Given the description of an element on the screen output the (x, y) to click on. 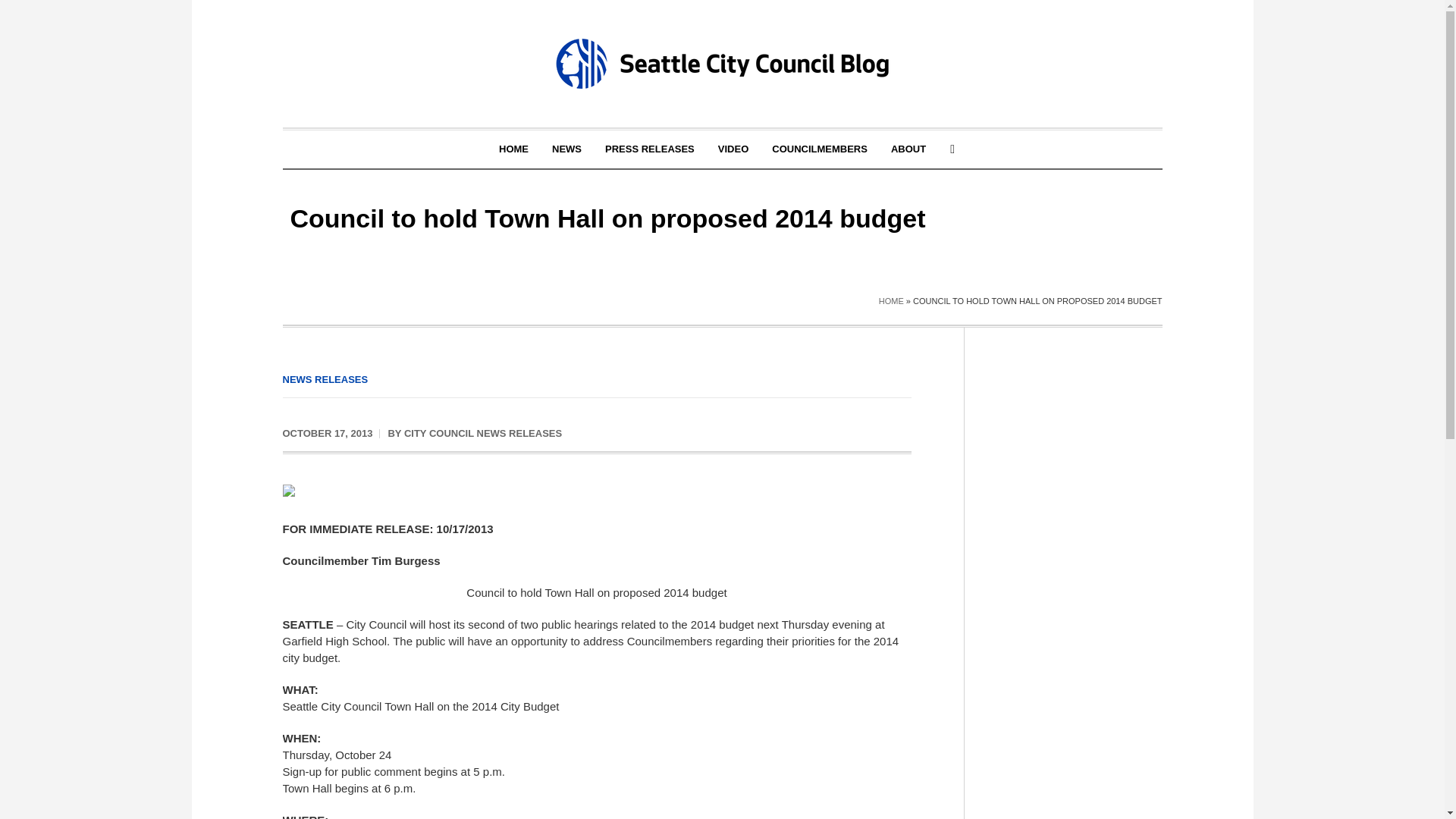
ABOUT (908, 149)
October 17, 2013 (327, 433)
PRESS RELEASES (650, 149)
HOME (513, 149)
NEWS (566, 149)
NEWS RELEASES (325, 378)
COUNCILMEMBERS (819, 149)
VIDEO (733, 149)
HOME (891, 300)
City of Seattle (301, 502)
CITY COUNCIL NEWS RELEASES (483, 432)
Posts by City Council News Releases (483, 432)
